Given the description of an element on the screen output the (x, y) to click on. 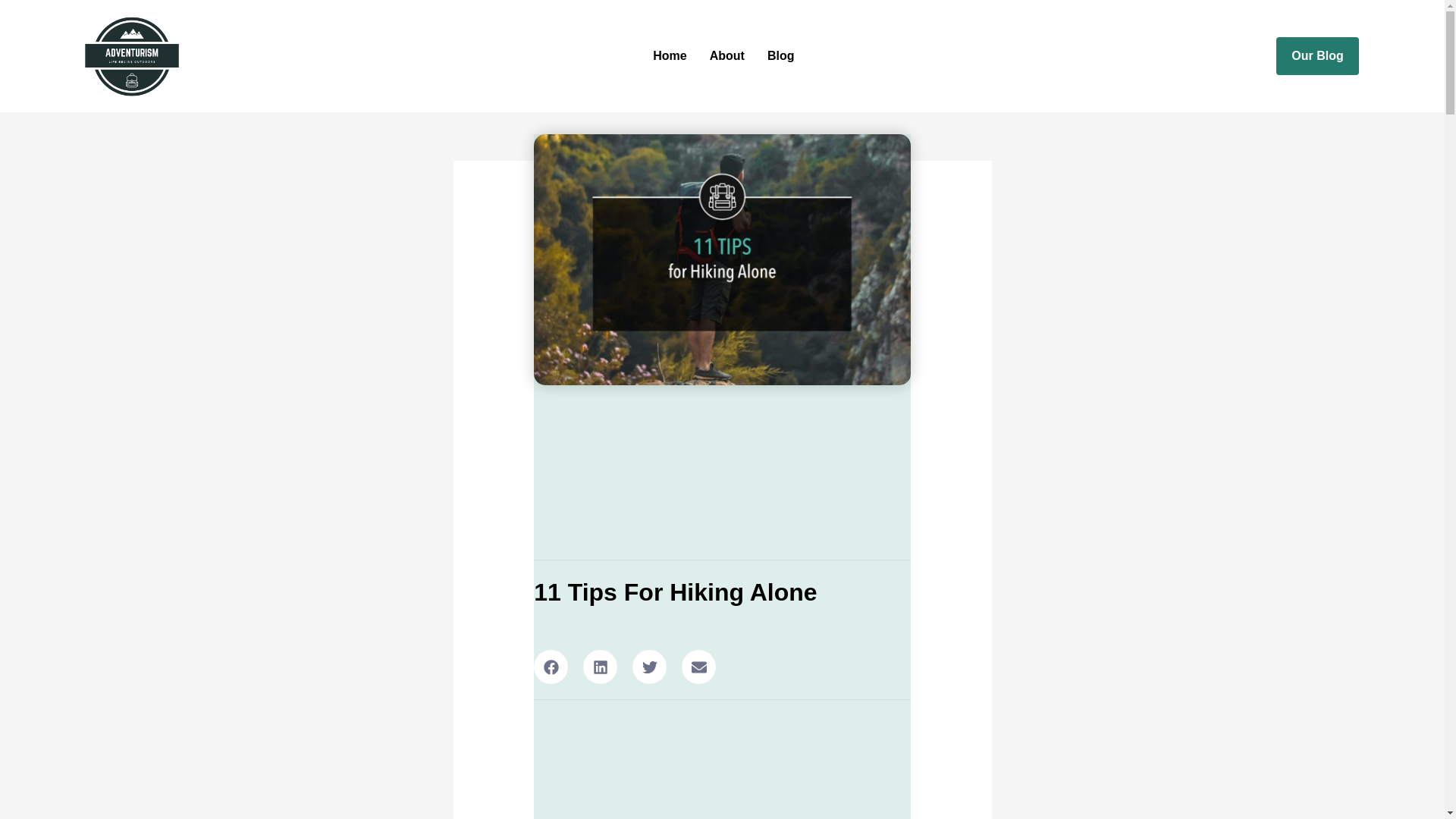
Our Blog (1317, 55)
About (726, 55)
Home (669, 55)
